Given the description of an element on the screen output the (x, y) to click on. 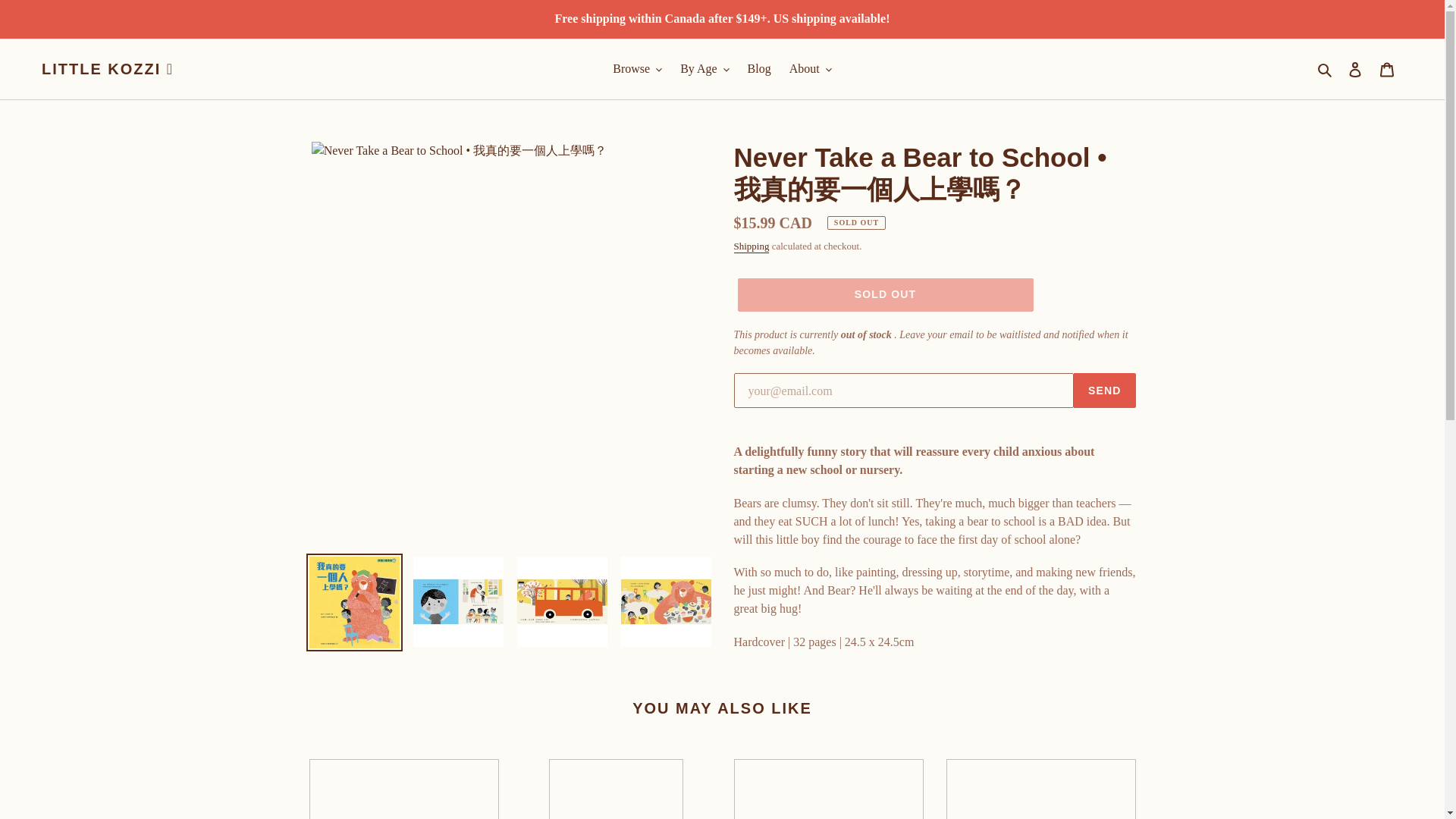
About (810, 68)
By Age (704, 68)
Send (1104, 390)
Blog (758, 68)
Browse (637, 68)
